Given the description of an element on the screen output the (x, y) to click on. 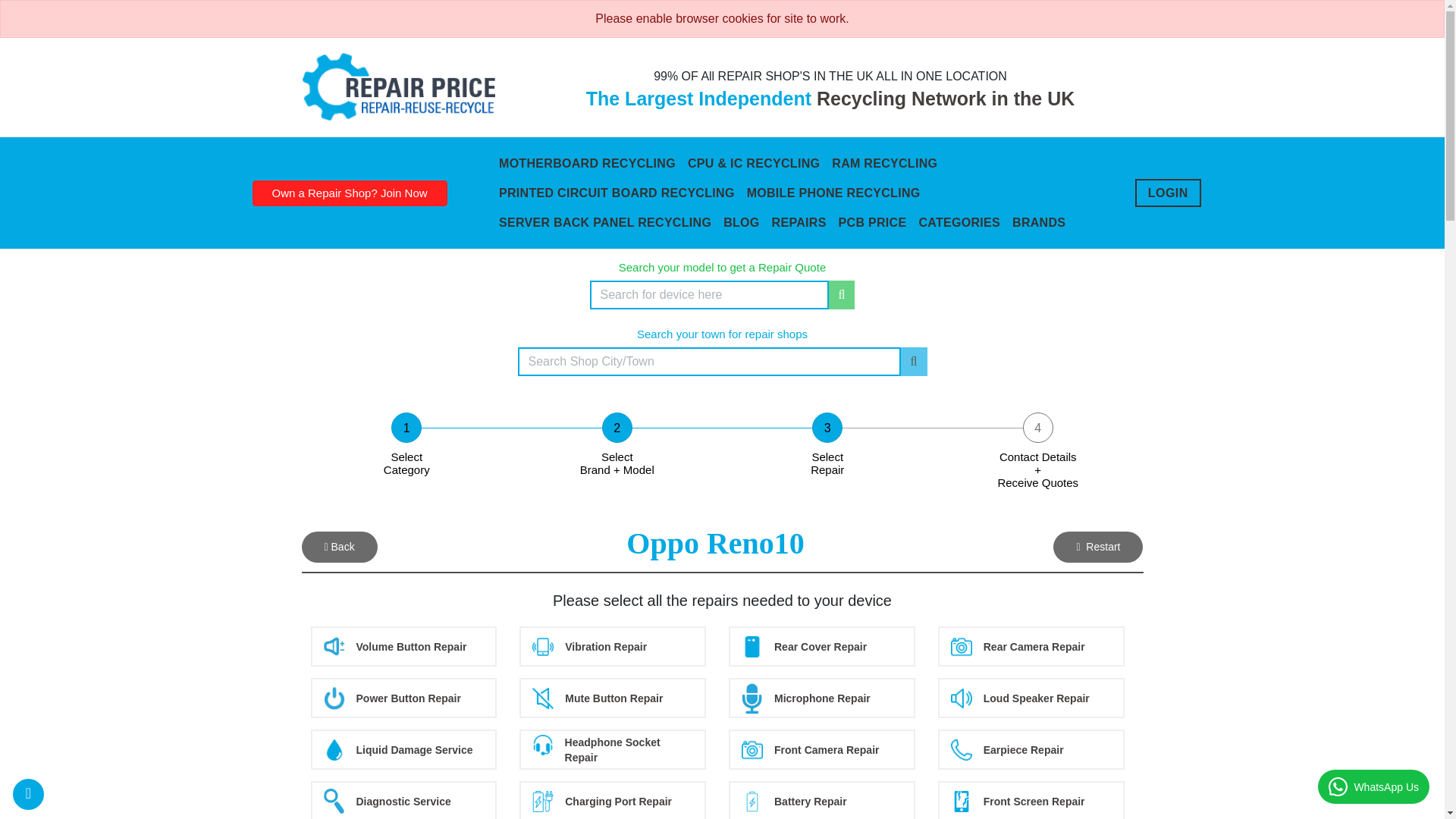
 Back (339, 546)
Model Search Btn (842, 294)
MOBILE PHONE RECYCLING (833, 193)
REPAIRS (798, 222)
Own a Repair Shop? Join Now (348, 193)
PCB PRICE (872, 222)
CATEGORIES (959, 222)
SERVER BACK PANEL RECYCLING (605, 222)
BRANDS (1038, 222)
PRINTED CIRCUIT BOARD RECYCLING (617, 193)
BLOG (741, 222)
 Restart (1097, 546)
LOGIN (1168, 193)
RAM RECYCLING (884, 163)
MOTHERBOARD RECYCLING (587, 163)
